Given the description of an element on the screen output the (x, y) to click on. 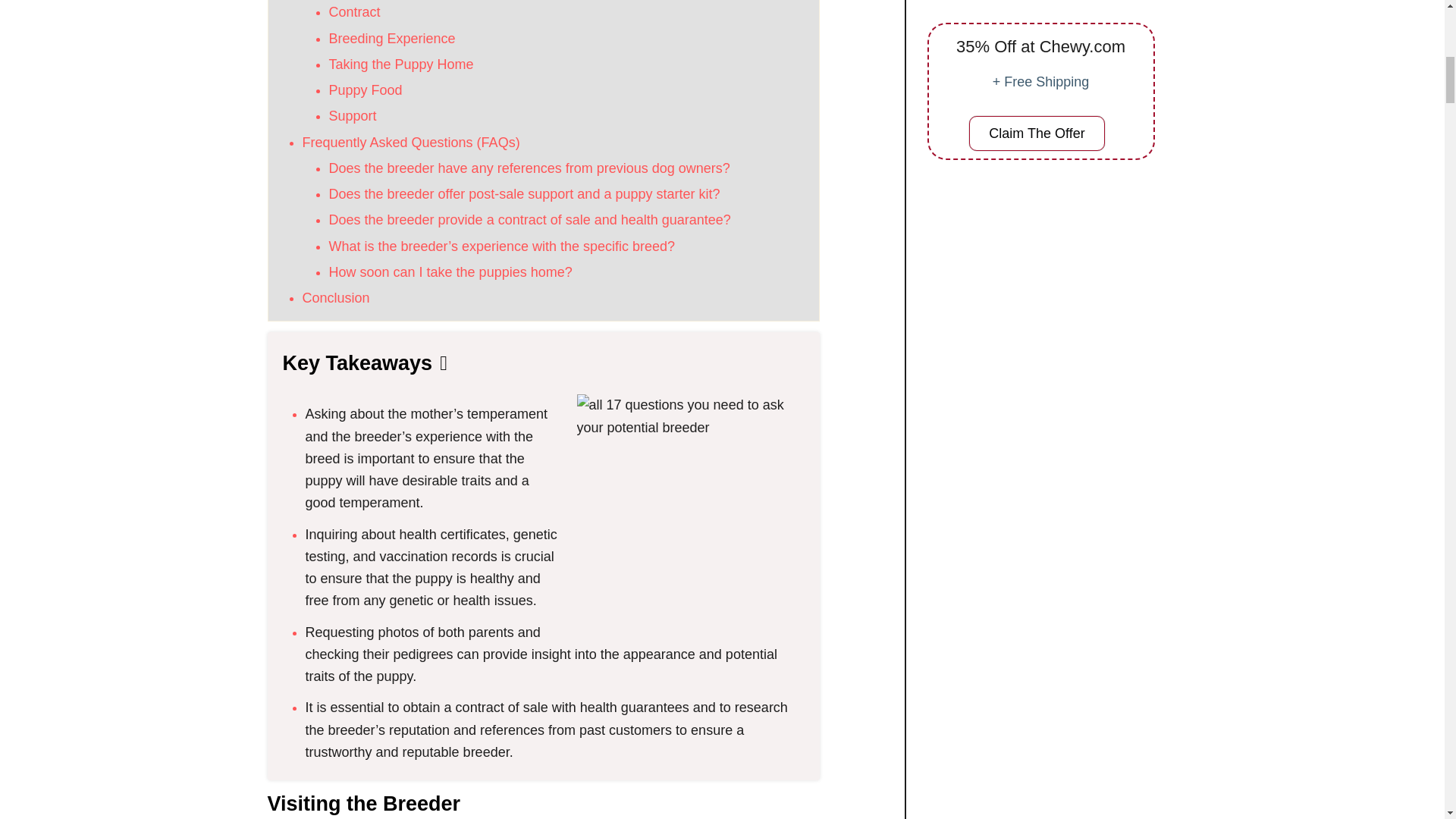
Taking the Puppy Home (401, 64)
Puppy Food (366, 89)
Breeding Experience (392, 38)
Support (353, 115)
Contract (354, 11)
